Given the description of an element on the screen output the (x, y) to click on. 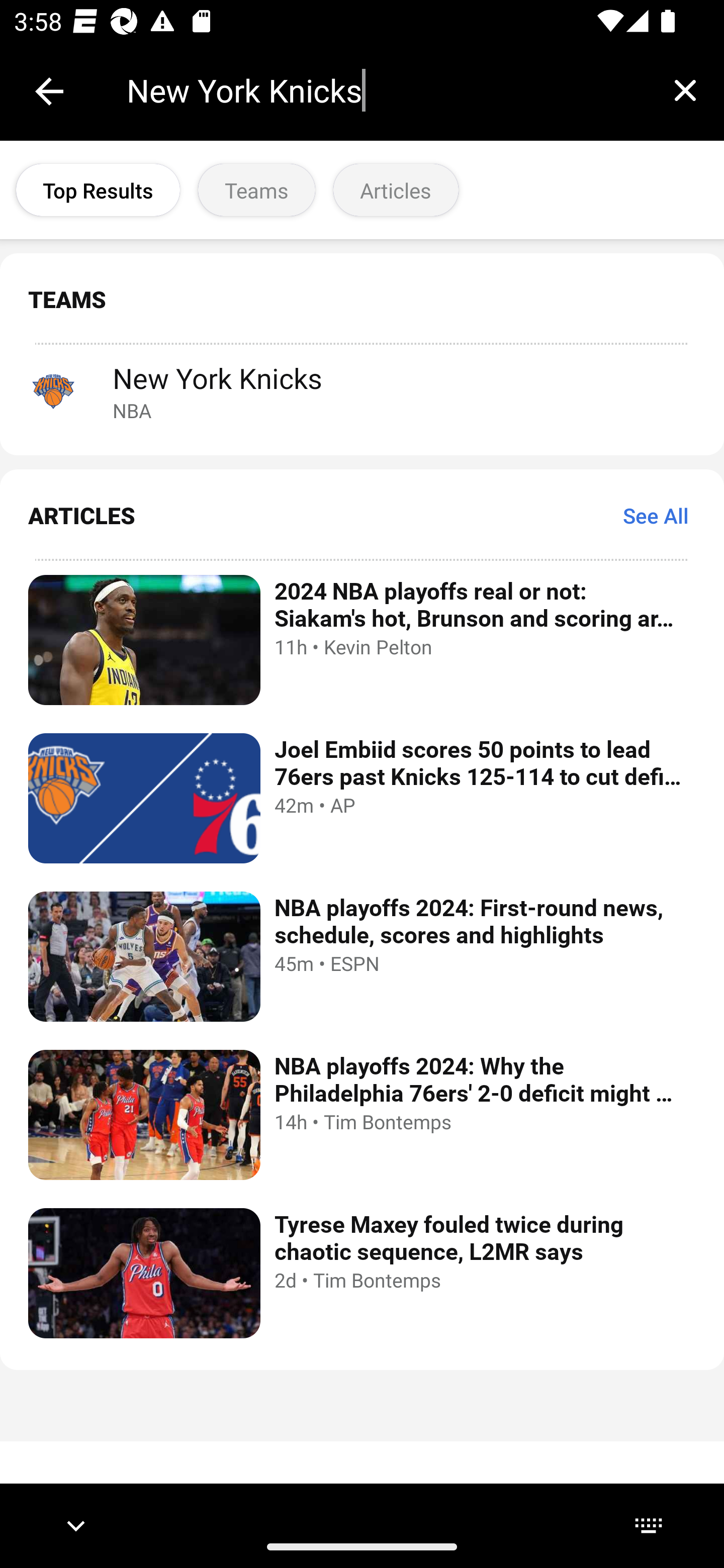
Collapse (49, 91)
Clear query (685, 89)
New York Knicks (386, 90)
Top Results (97, 190)
Teams (256, 190)
Articles (395, 190)
New York Knicks : NBA New York Knicks NBA (362, 390)
See All (655, 514)
